Given the description of an element on the screen output the (x, y) to click on. 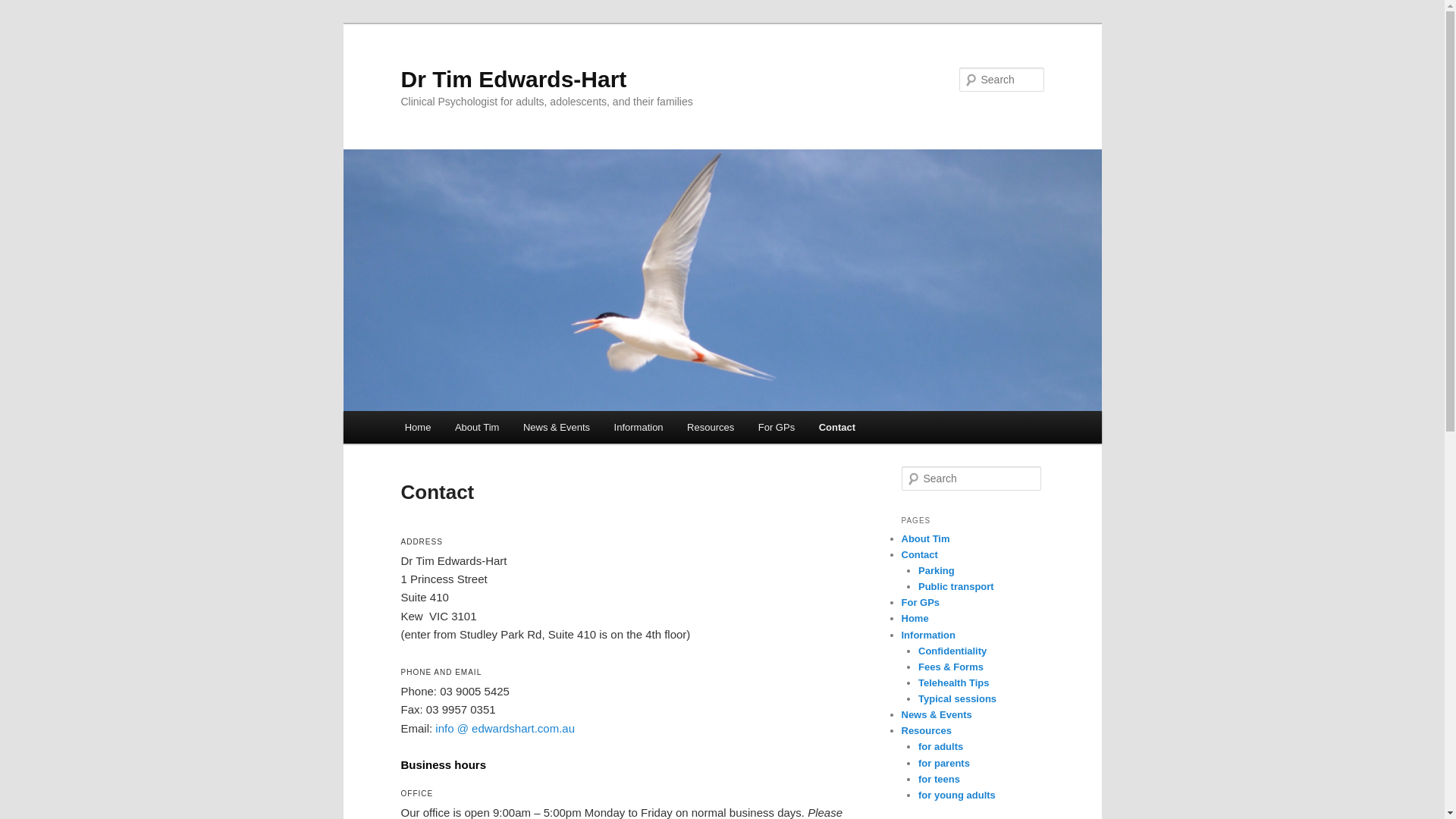
Information Element type: text (638, 427)
For GPs Element type: text (776, 427)
About Tim Element type: text (476, 427)
Resources Element type: text (710, 427)
Contact Element type: text (918, 554)
About Tim Element type: text (924, 538)
Information Element type: text (927, 634)
Typical sessions Element type: text (957, 698)
for teens Element type: text (939, 778)
for young adults Element type: text (956, 794)
Telehealth Tips Element type: text (953, 682)
News & Events Element type: text (556, 427)
Fees & Forms Element type: text (950, 666)
For GPs Element type: text (919, 602)
for adults Element type: text (940, 746)
News & Events Element type: text (935, 714)
Resources Element type: text (925, 730)
Search Element type: text (20, 10)
Skip to primary content Element type: text (22, 22)
Contact Element type: text (836, 427)
Home Element type: text (417, 427)
Home Element type: text (914, 618)
Dr Tim Edwards-Hart Element type: text (513, 78)
Search Element type: text (24, 8)
Parking Element type: text (936, 570)
Public transport Element type: text (956, 586)
Confidentiality Element type: text (952, 650)
for parents Element type: text (943, 762)
info @ edwardshart.com.au Element type: text (504, 727)
